Given the description of an element on the screen output the (x, y) to click on. 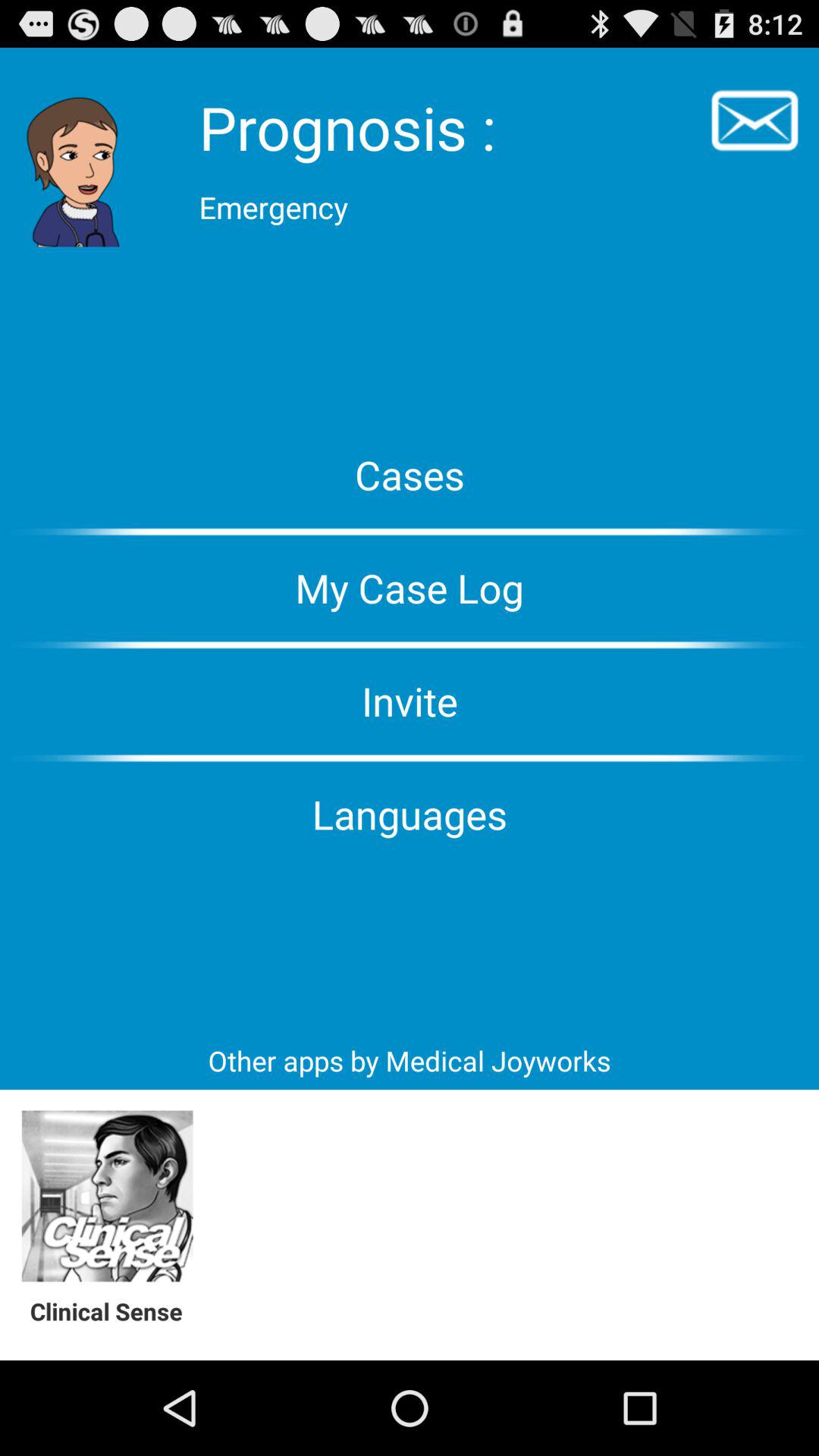
choose item above other apps by app (409, 813)
